Given the description of an element on the screen output the (x, y) to click on. 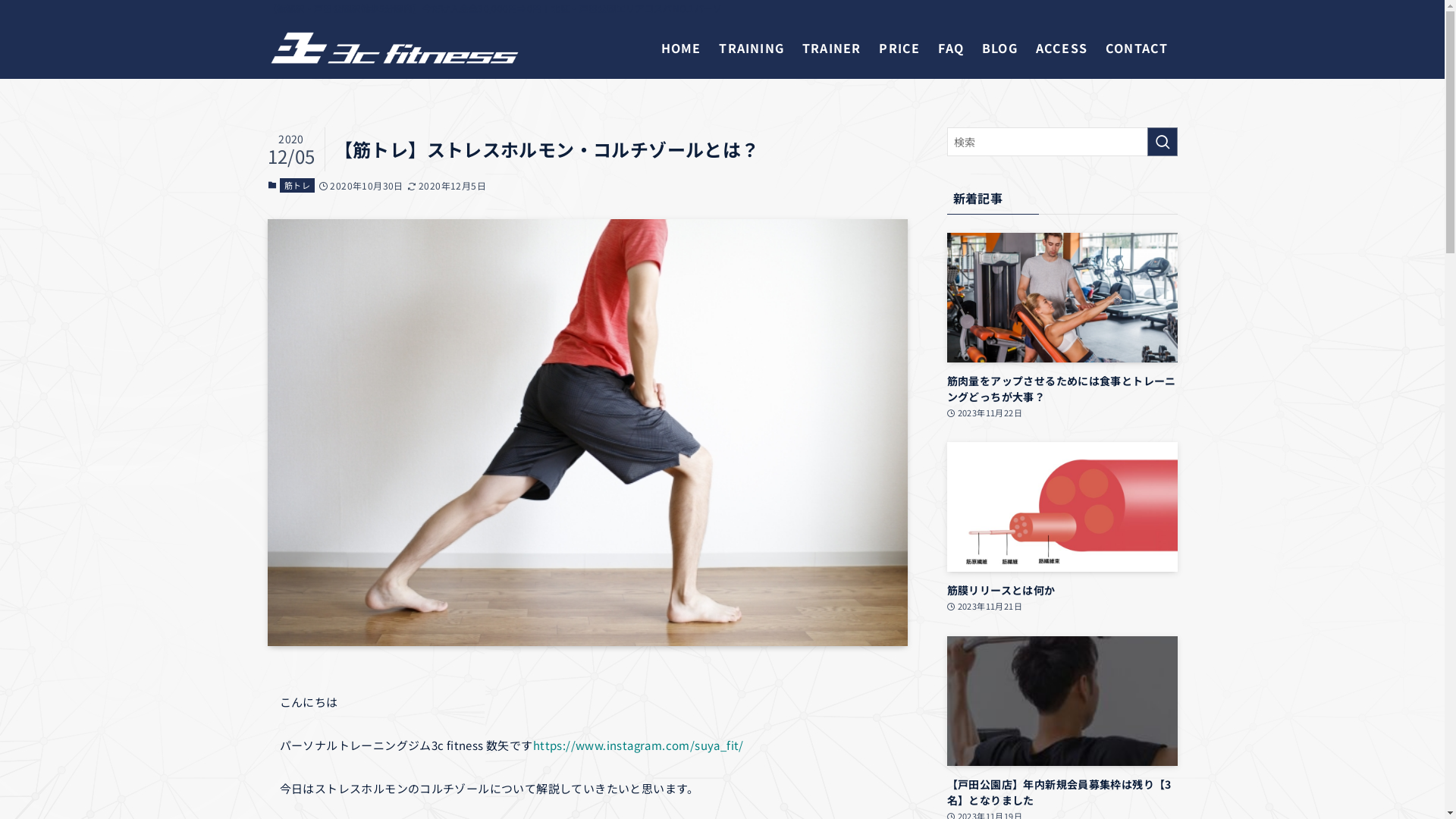
HOME Element type: text (681, 47)
search Element type: text (1161, 141)
FAQ Element type: text (950, 47)
search Element type: text (921, 421)
ACCESS Element type: text (1061, 47)
PRICE Element type: text (898, 47)
TRAINER Element type: text (831, 47)
https://www.instagram.com/suya_fit/ Element type: text (638, 745)
BLOG Element type: text (999, 47)
CONTACT Element type: text (1136, 47)
TRAINING Element type: text (751, 47)
